Given the description of an element on the screen output the (x, y) to click on. 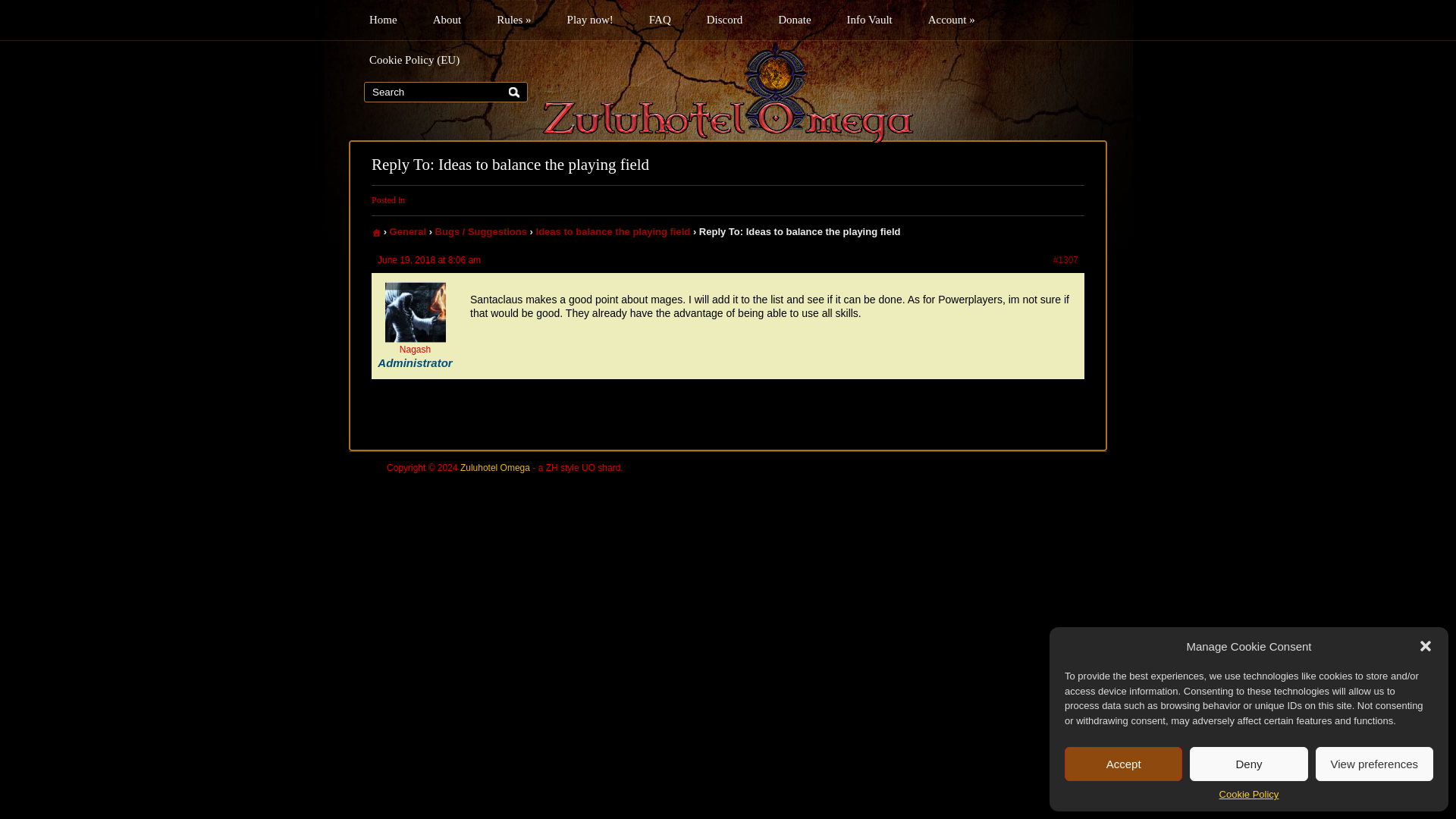
Zuluhotel Omega (727, 92)
Search (432, 91)
Search (432, 91)
